Given the description of an element on the screen output the (x, y) to click on. 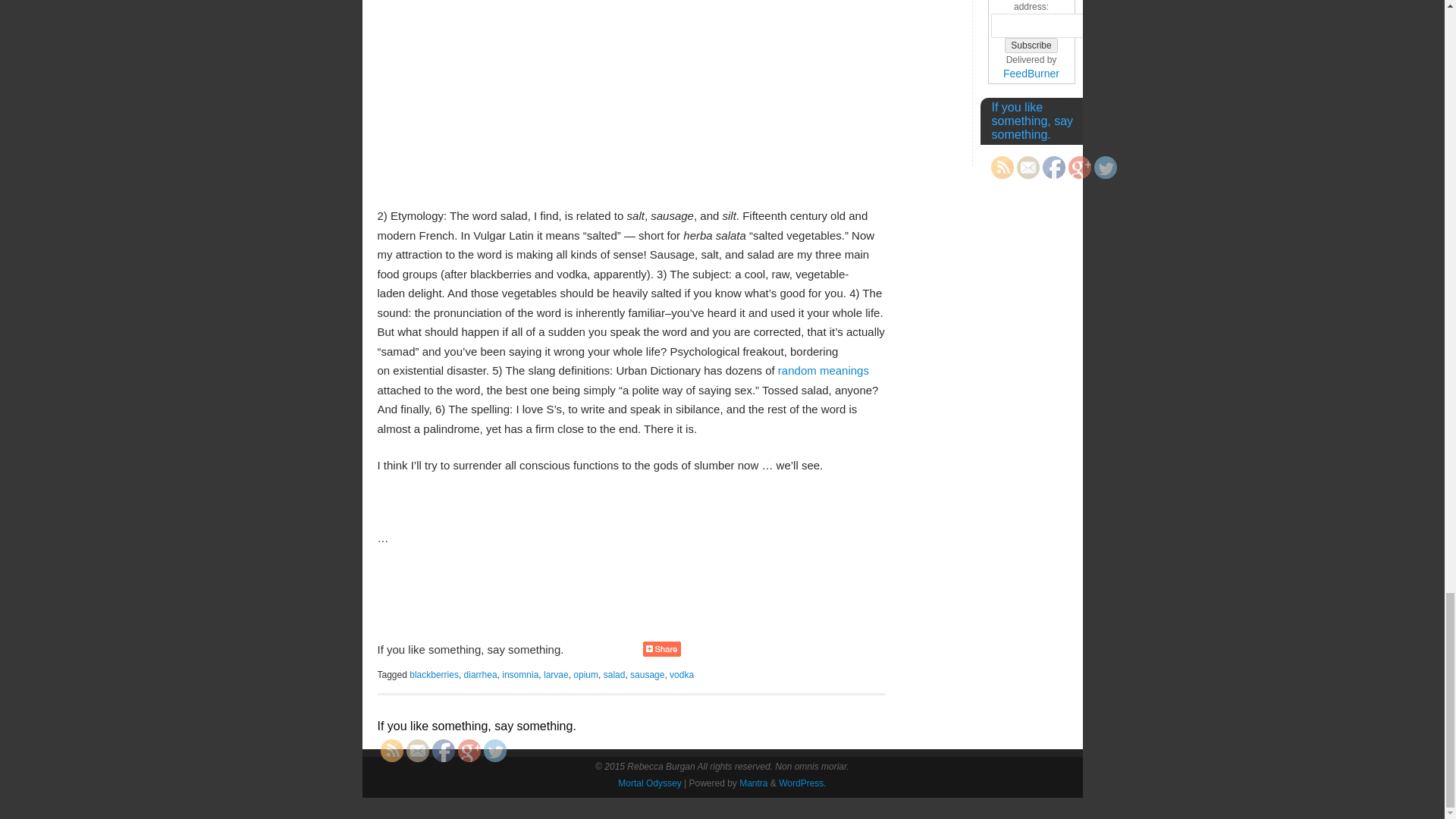
random meanings (823, 369)
Subscribe (1030, 45)
diarrhea (480, 674)
larvae (556, 674)
insomnia (520, 674)
blackberries (433, 674)
opium (585, 674)
Twitter (494, 750)
salad (615, 674)
FACEBOOK (443, 750)
